Given the description of an element on the screen output the (x, y) to click on. 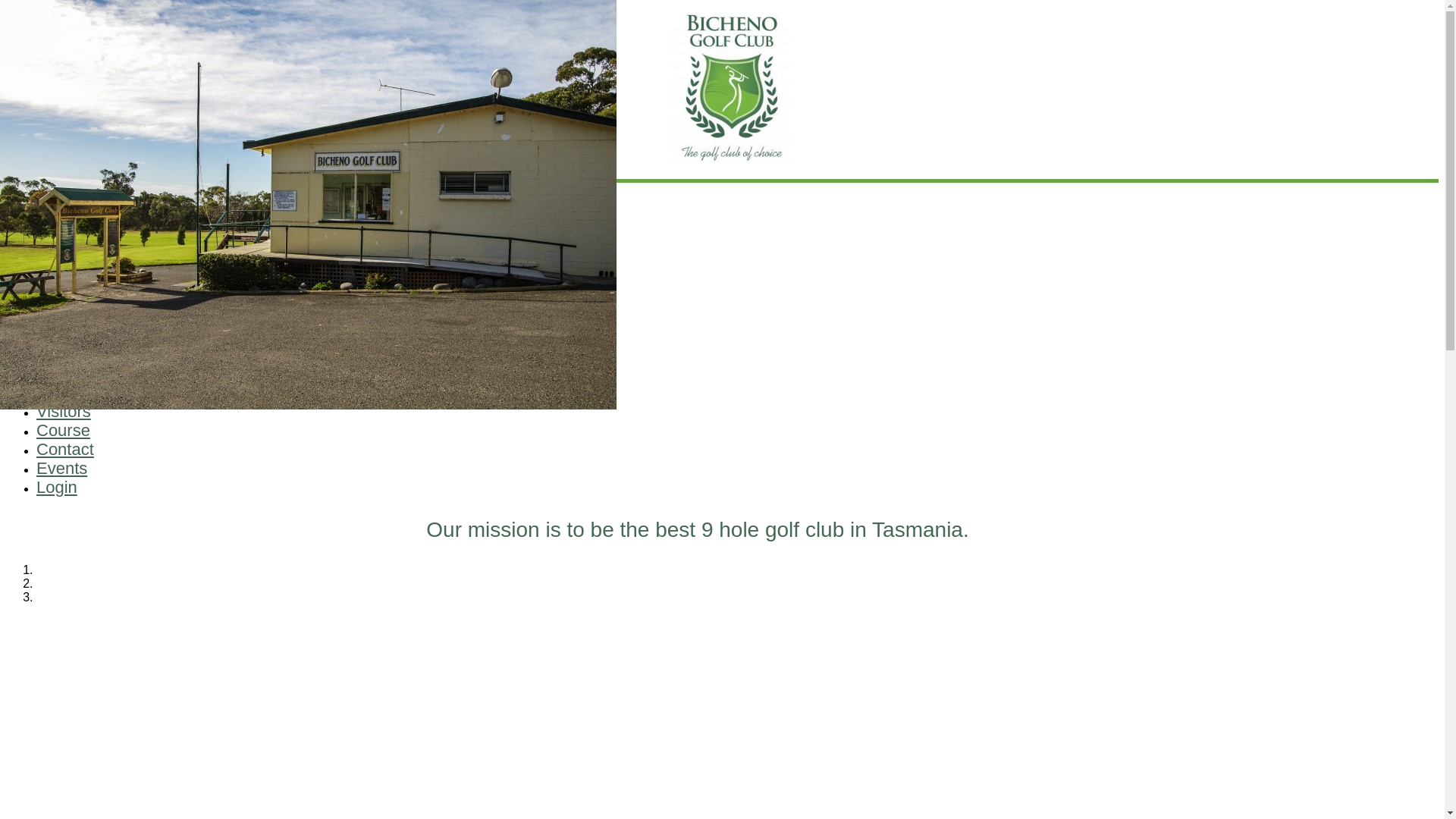
Social Membership (118, 394)
Junior Membership (118, 380)
Login (56, 486)
Management Committee 2023-2024 (163, 252)
Sponsors (91, 307)
Our History (97, 334)
Toggle navigation (11, 192)
Sub Committee Convenors (139, 266)
Life Members (102, 279)
Home (58, 217)
Course (63, 429)
Senior Membership (118, 367)
Events (61, 467)
Club (52, 236)
Score Card (97, 293)
